Given the description of an element on the screen output the (x, y) to click on. 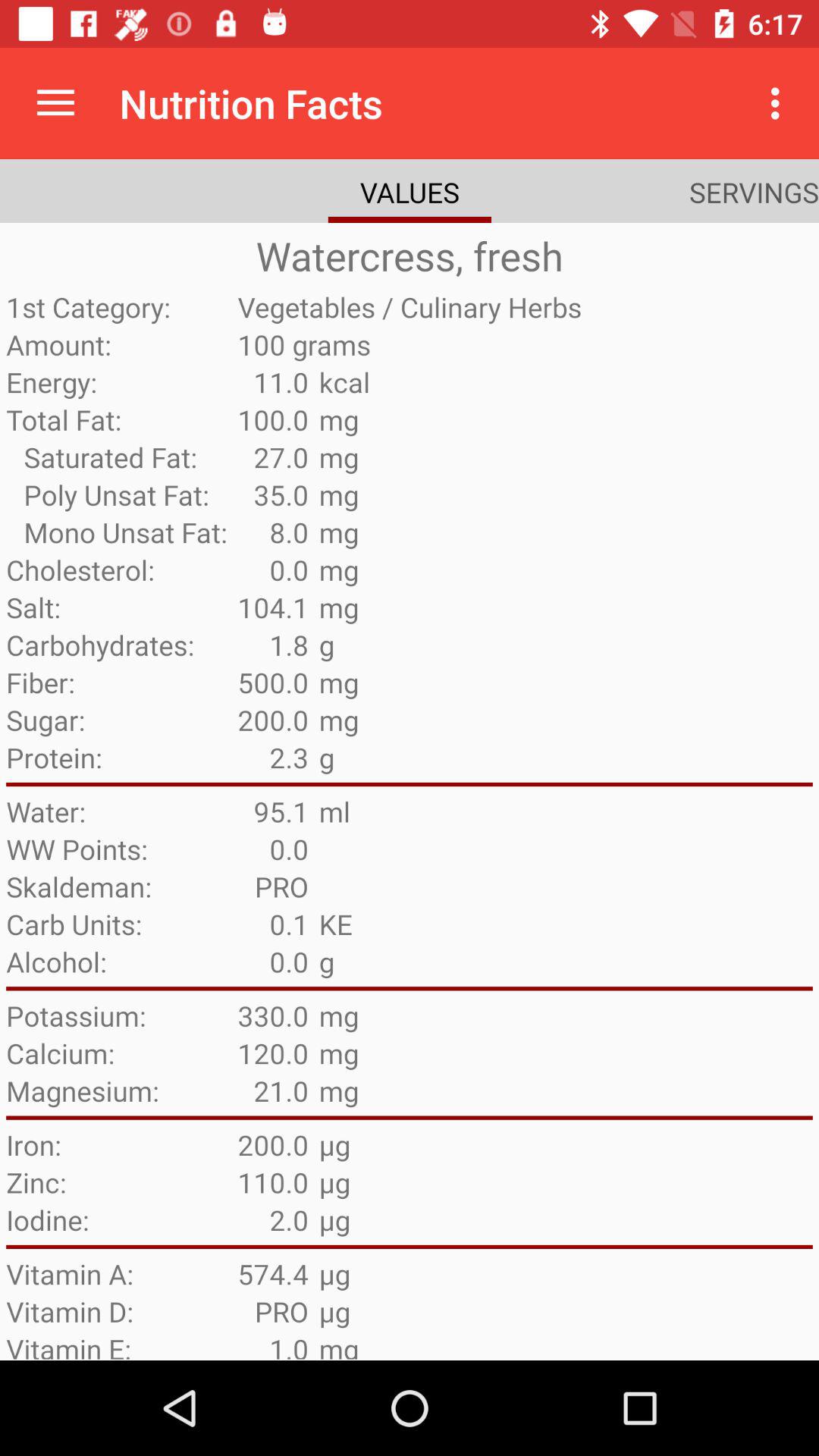
select icon next to nutrition facts item (55, 103)
